Given the description of an element on the screen output the (x, y) to click on. 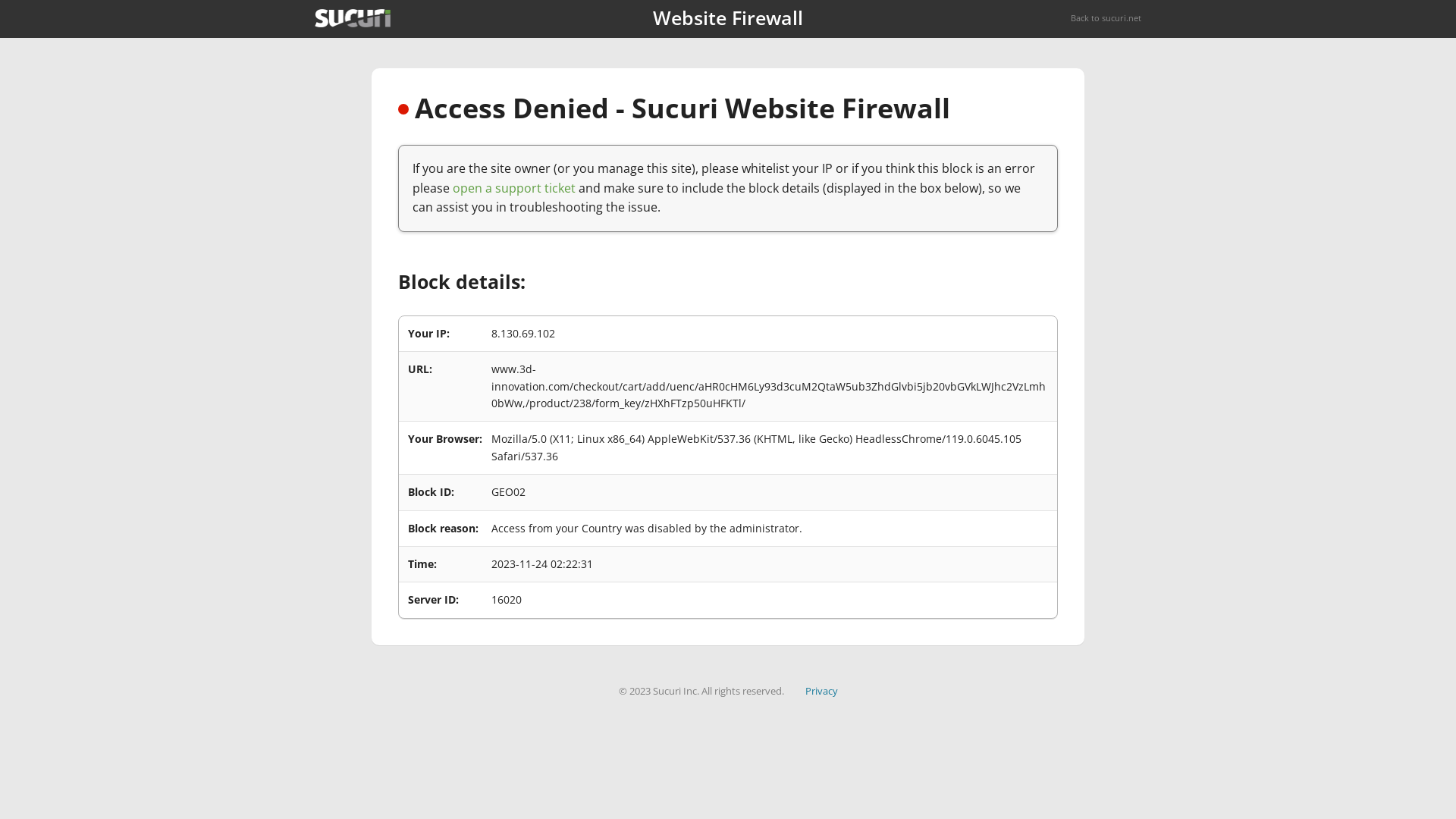
Back to sucuri.net Element type: text (1105, 18)
open a support ticket Element type: text (513, 187)
Privacy Element type: text (821, 690)
